Given the description of an element on the screen output the (x, y) to click on. 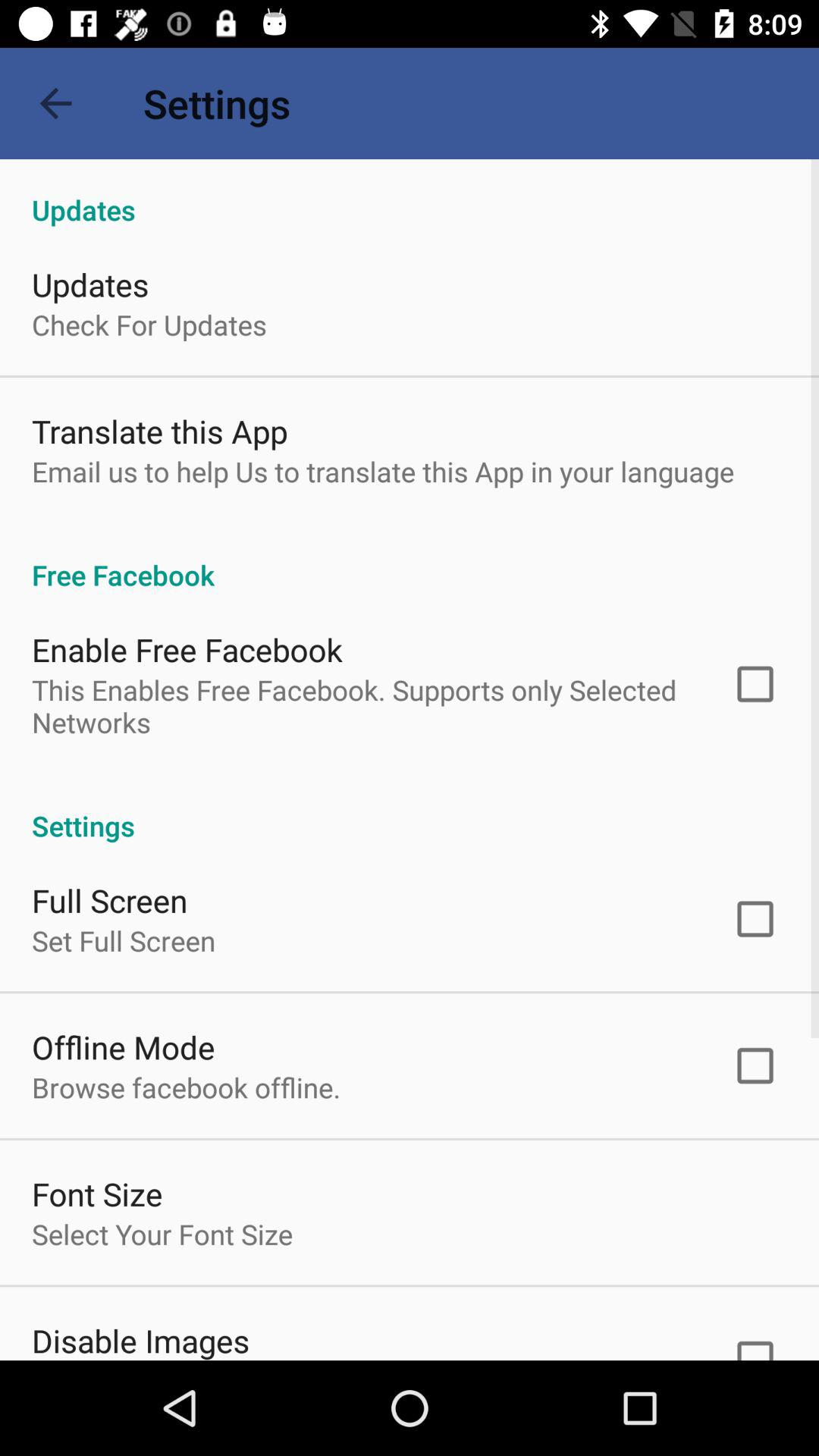
turn off email us to app (382, 471)
